Given the description of an element on the screen output the (x, y) to click on. 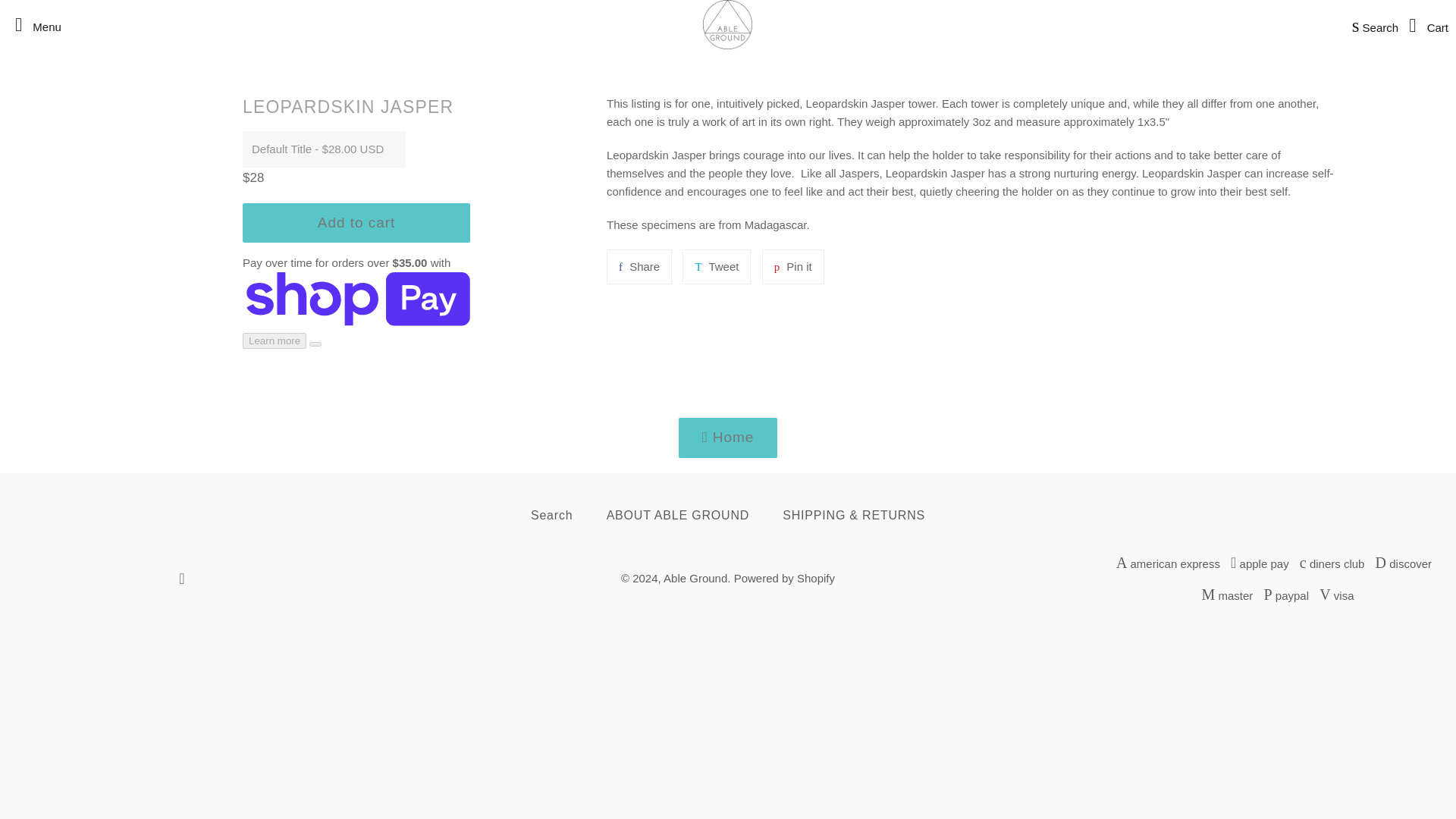
Search (551, 515)
Able Ground on Instagram (181, 579)
Instagram (181, 579)
Menu (792, 266)
Add to cart (34, 24)
Powered by Shopify (356, 222)
Cart (783, 577)
Share on Facebook (1424, 23)
Home (639, 266)
Search (727, 437)
Pin on Pinterest (1370, 23)
Able Ground (792, 266)
ABOUT ABLE GROUND (694, 577)
